Given the description of an element on the screen output the (x, y) to click on. 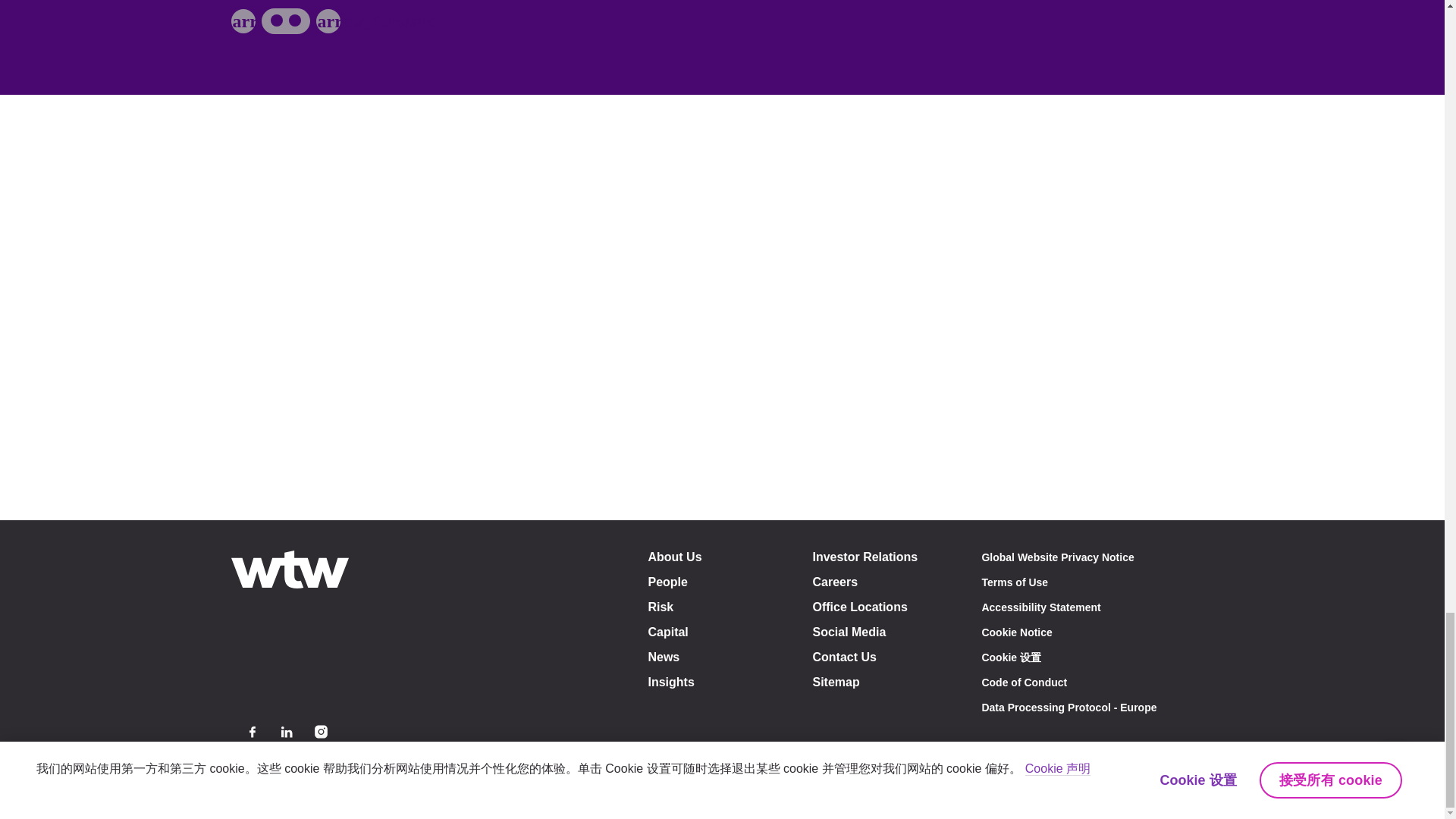
Facebook (252, 732)
Instagram (320, 732)
Linkedin (287, 732)
